Given the description of an element on the screen output the (x, y) to click on. 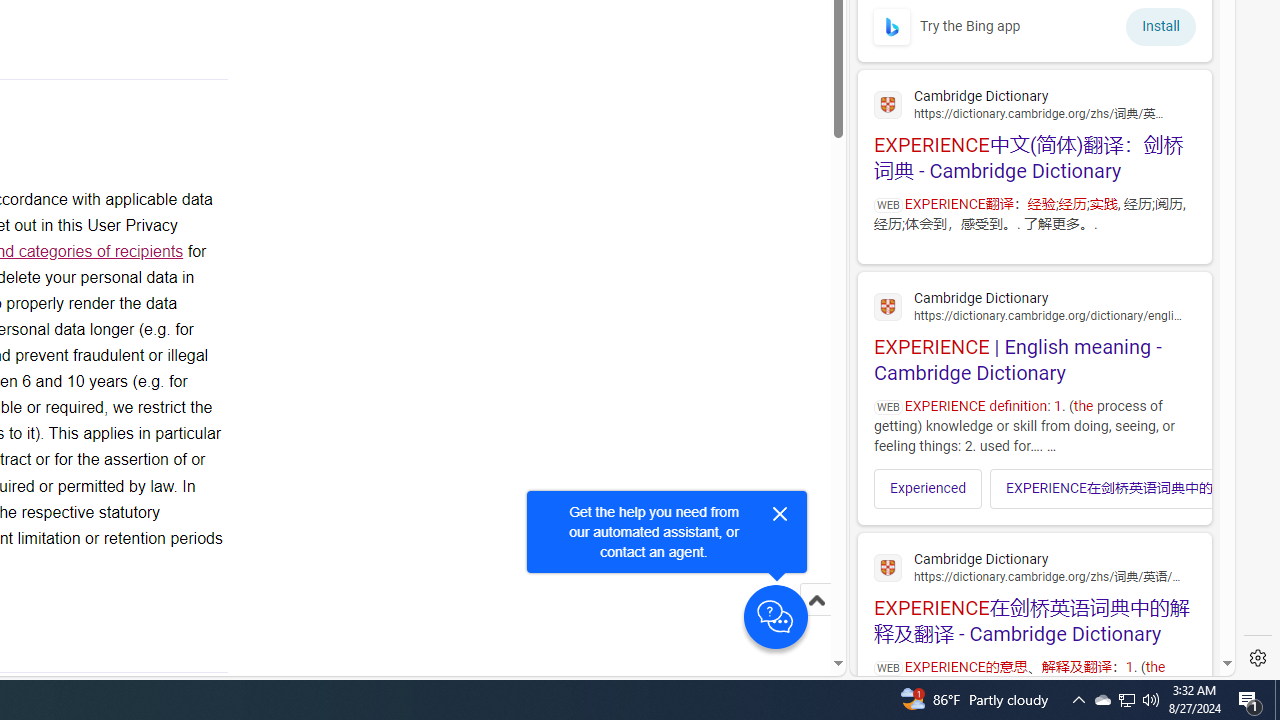
Experienced (927, 488)
Scroll to top (816, 620)
